Given the description of an element on the screen output the (x, y) to click on. 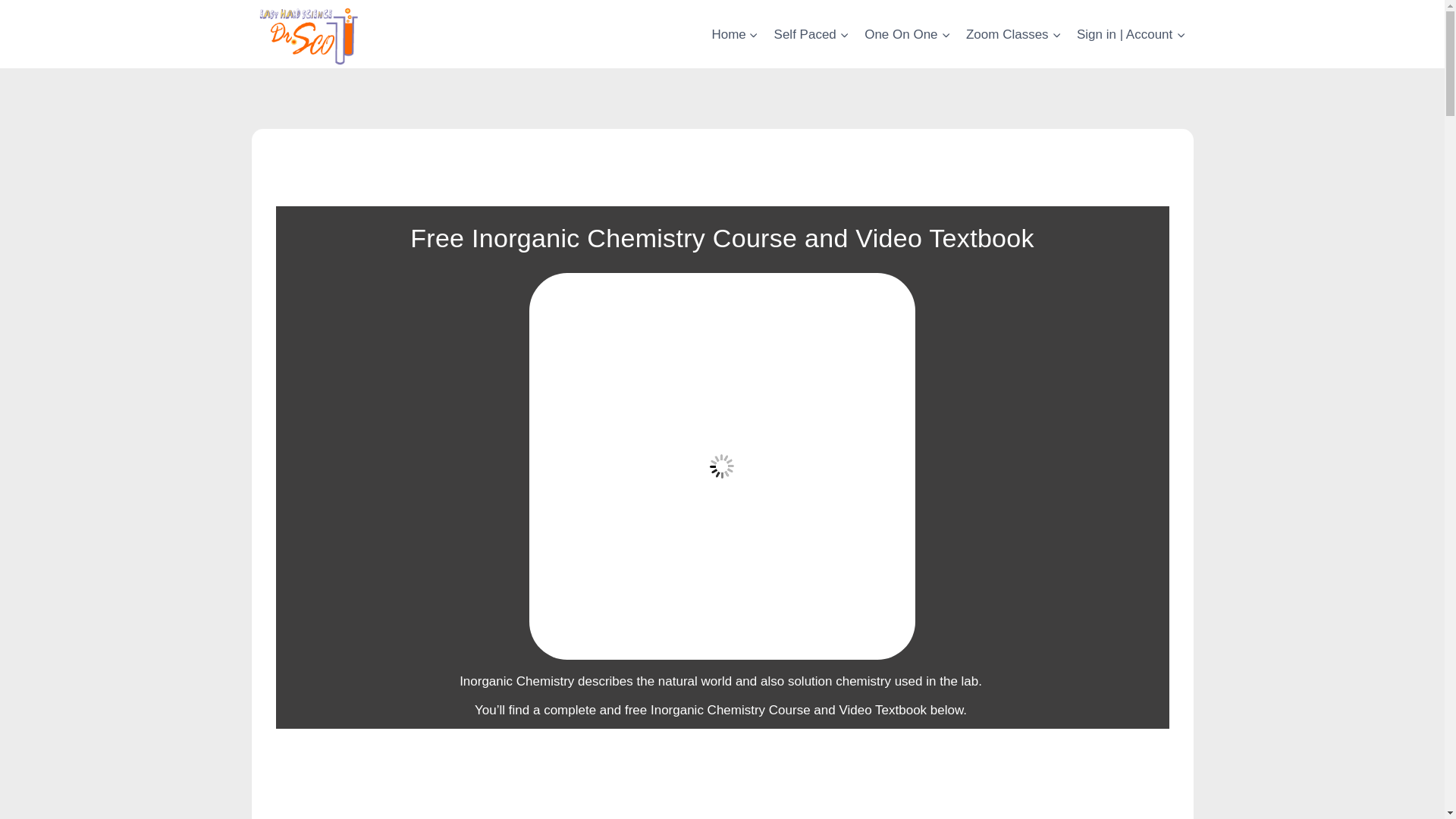
One On One (907, 33)
Home (735, 33)
Self Paced (811, 33)
Zoom Classes (1013, 33)
